Given the description of an element on the screen output the (x, y) to click on. 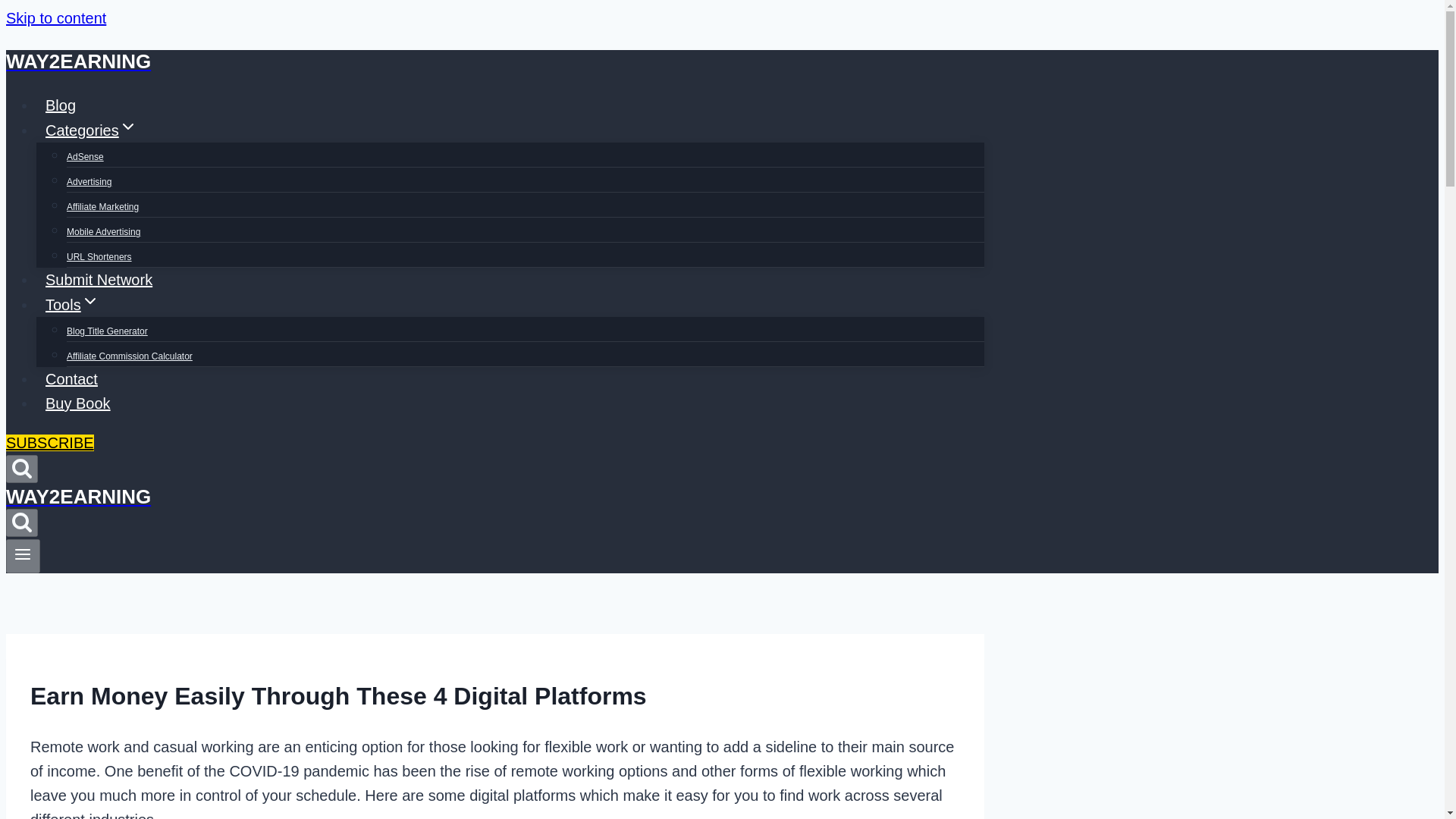
AdSense (84, 156)
Search (21, 522)
Affiliate Commission Calculator (129, 356)
Blog Title Generator (107, 330)
Contact (71, 378)
Toggle Menu (22, 554)
SUBSCRIBE (49, 442)
Expand (127, 126)
Buy Book (77, 402)
Mobile Advertising (102, 231)
